Given the description of an element on the screen output the (x, y) to click on. 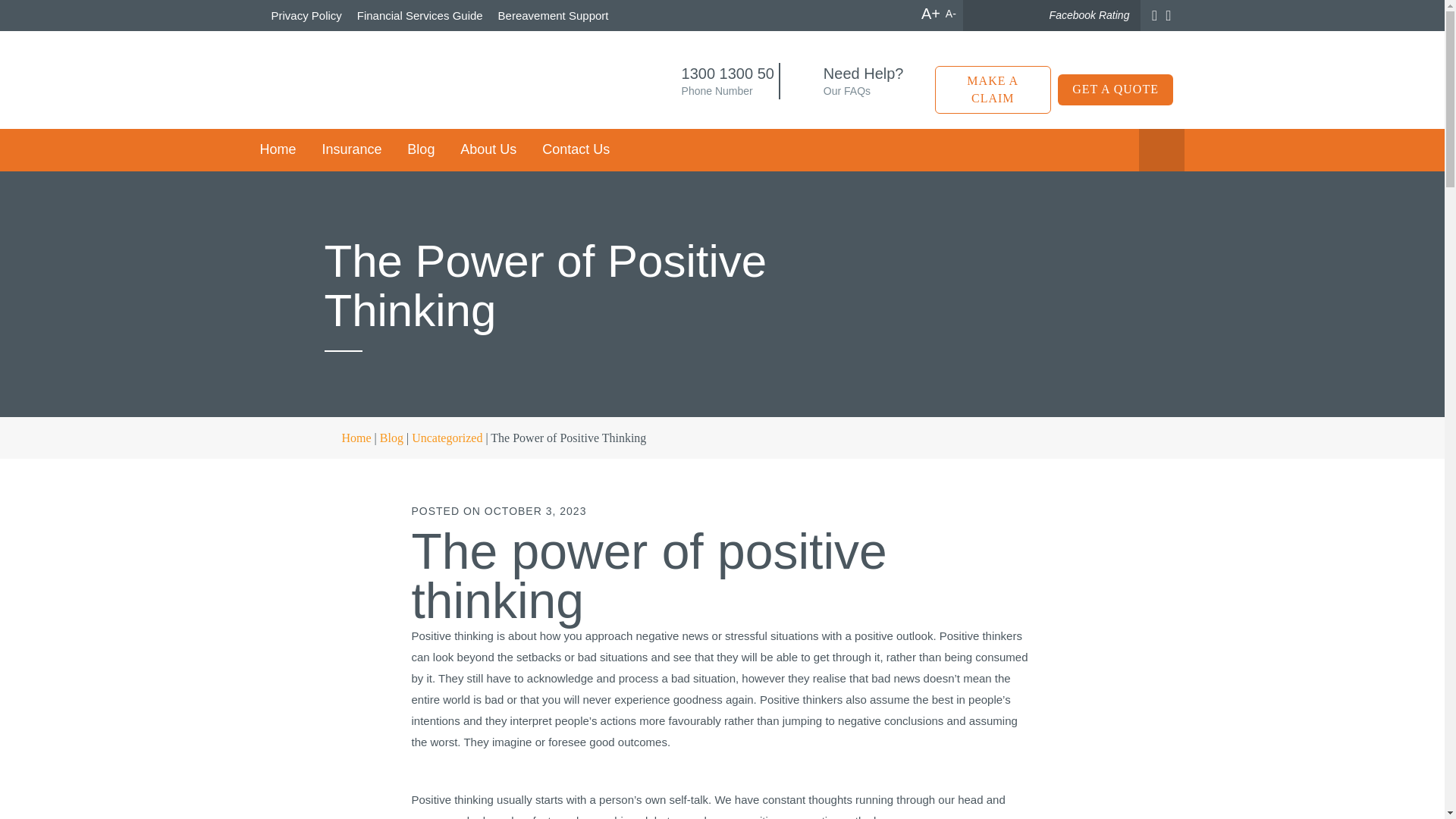
Increase font size (930, 13)
Bereavement Support (553, 15)
MAKE A CLAIM (992, 90)
Go to the Uncategorized category archives. (446, 437)
Insurance (351, 149)
Go to Blog. (391, 437)
Privacy Policy (308, 15)
1300 1300 50 (727, 73)
Home (283, 149)
About Us (487, 149)
Need Help? (864, 73)
Contact Us (576, 149)
Go to COTA Insurance. (347, 437)
Blog (420, 149)
Financial Services Guide (419, 15)
